Given the description of an element on the screen output the (x, y) to click on. 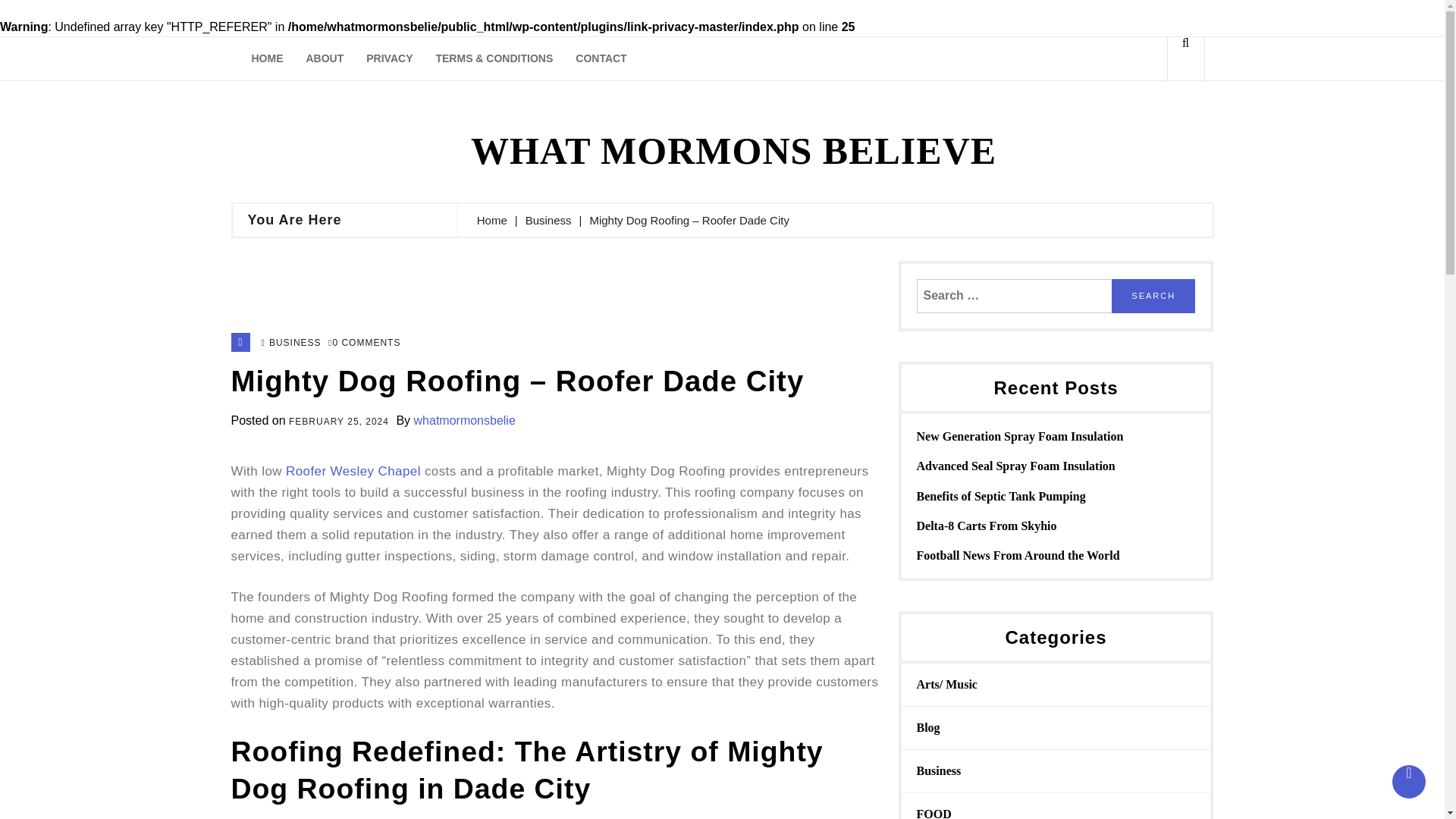
PRIVACY (389, 58)
Blog (927, 727)
Business (937, 770)
Search (1153, 295)
ABOUT (324, 58)
Search (1153, 295)
whatmormonsbelie (464, 420)
FEBRUARY 25, 2024 (338, 422)
Benefits of Septic Tank Pumping (1055, 495)
Advanced Seal Spray Foam Insulation (1055, 465)
Search (1158, 125)
BUSINESS (295, 343)
Business (548, 219)
Search (1153, 295)
CONTACT (600, 58)
